Given the description of an element on the screen output the (x, y) to click on. 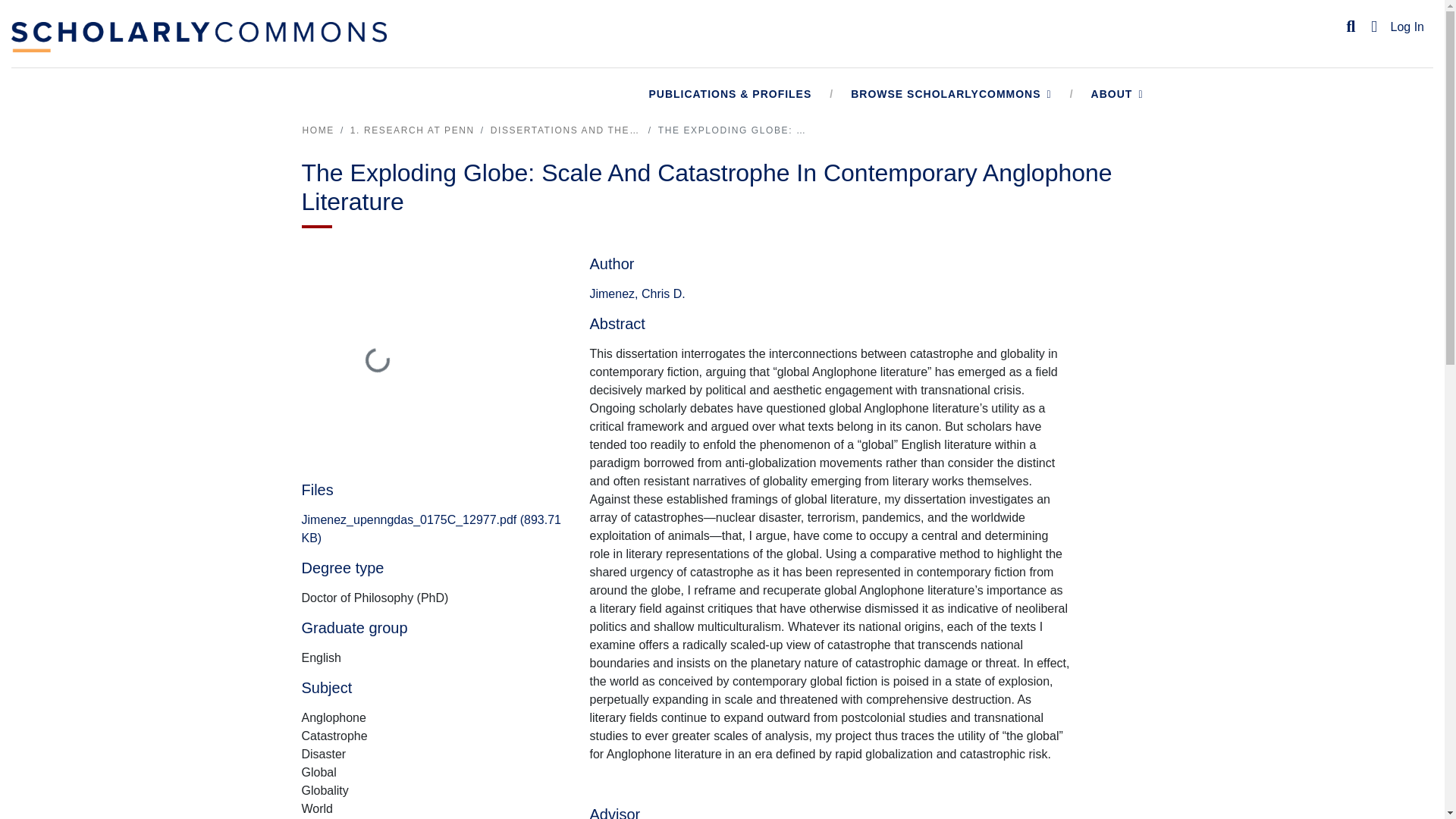
DISSERTATIONS AND THESES (566, 130)
ABOUT (1117, 94)
Language switch (1374, 27)
1. RESEARCH AT PENN (412, 130)
Search (1350, 27)
BROWSE SCHOLARLYCOMMONS (951, 94)
HOME (317, 130)
Jimenez, Chris D. (636, 293)
Log In (1406, 26)
